Given the description of an element on the screen output the (x, y) to click on. 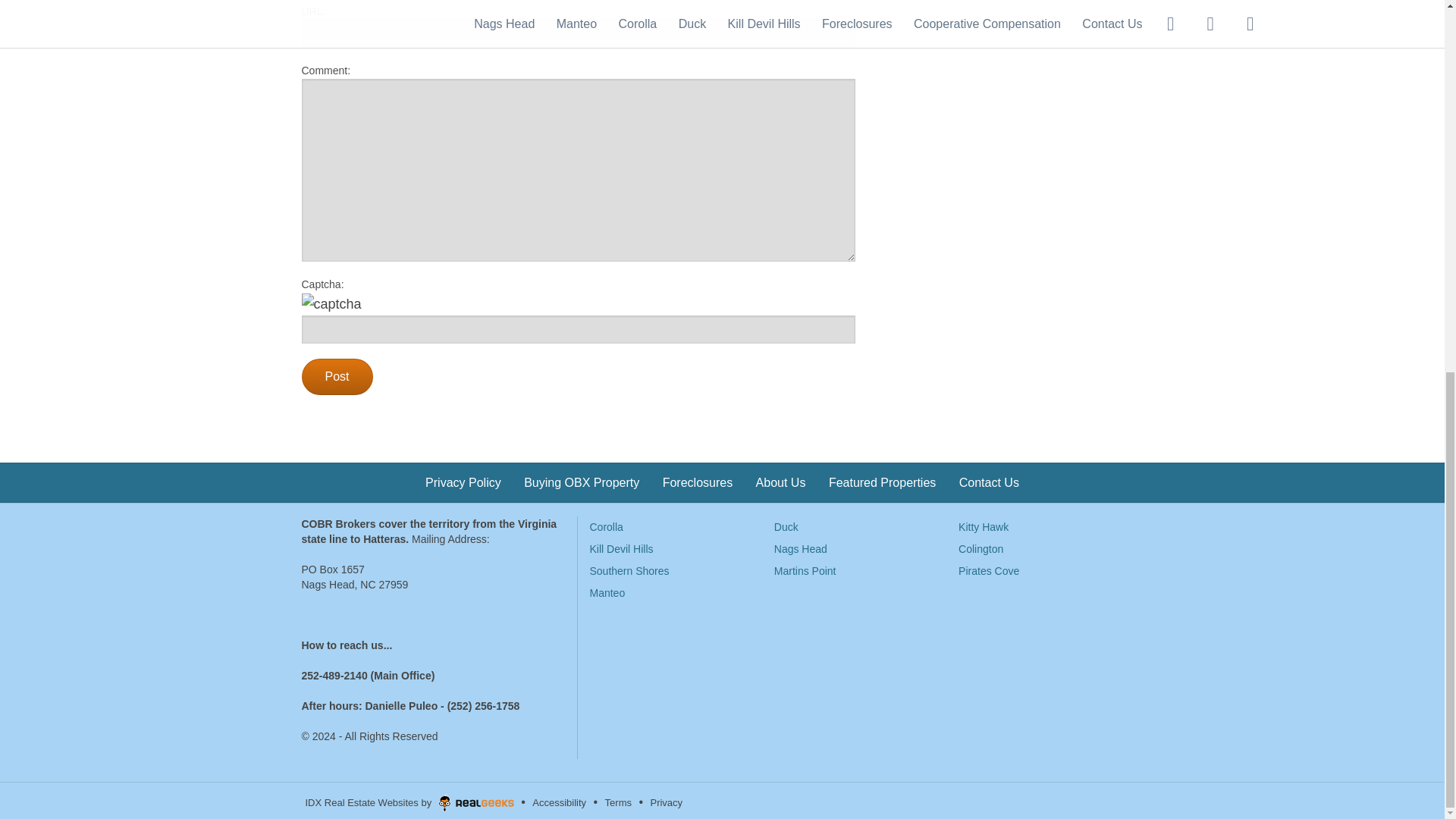
Privacy Policy (462, 481)
Post (336, 376)
Buying OBX Property (581, 481)
Contact Us (989, 481)
Featured Properties (882, 481)
About Us (780, 481)
Post (336, 376)
Corolla (606, 526)
Foreclosures (697, 481)
